Given the description of an element on the screen output the (x, y) to click on. 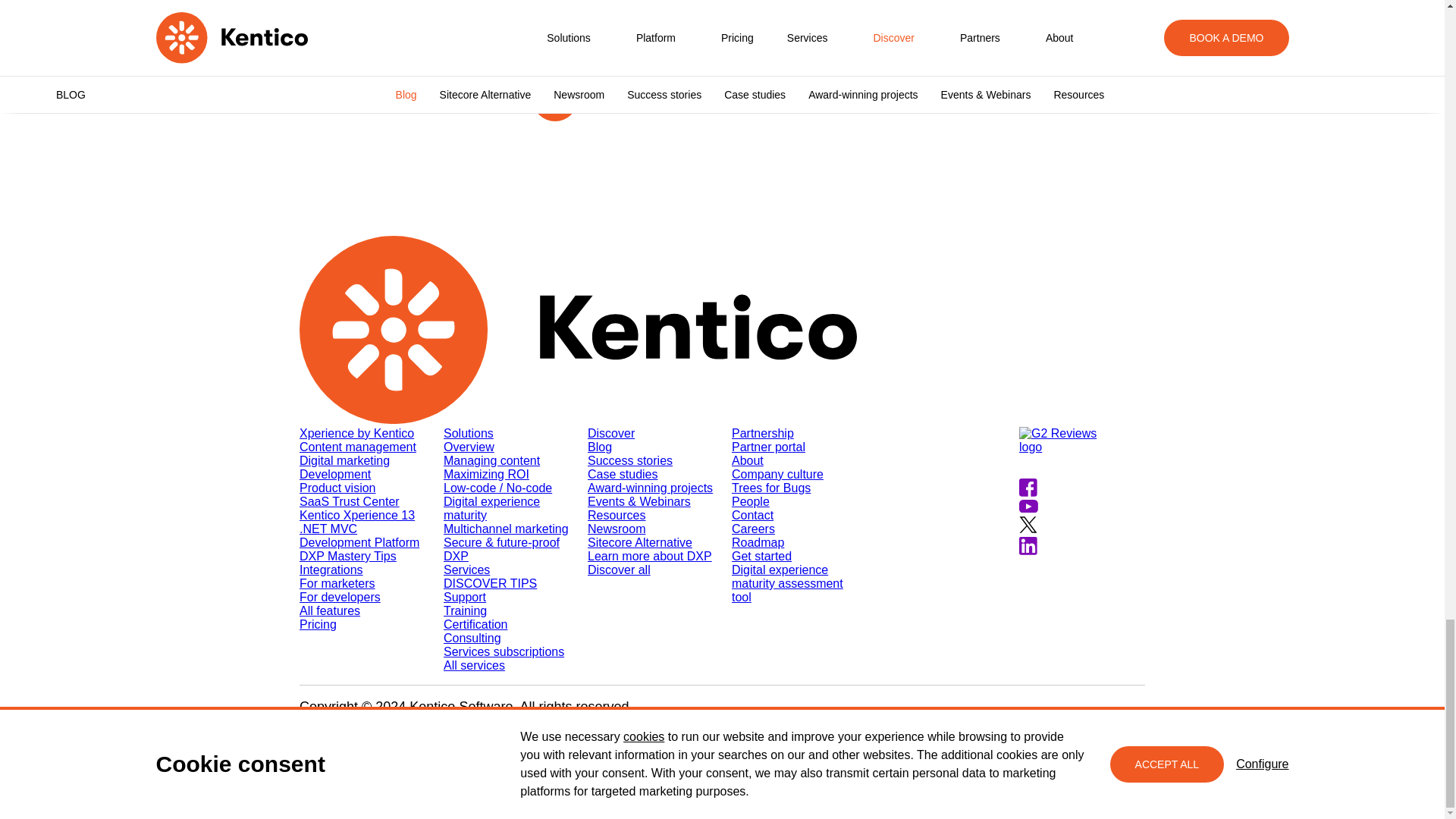
Facebook (695, 94)
Twitter (744, 94)
LinkedIn (793, 94)
Read reviews of Kentico on G2 (1081, 452)
